Given the description of an element on the screen output the (x, y) to click on. 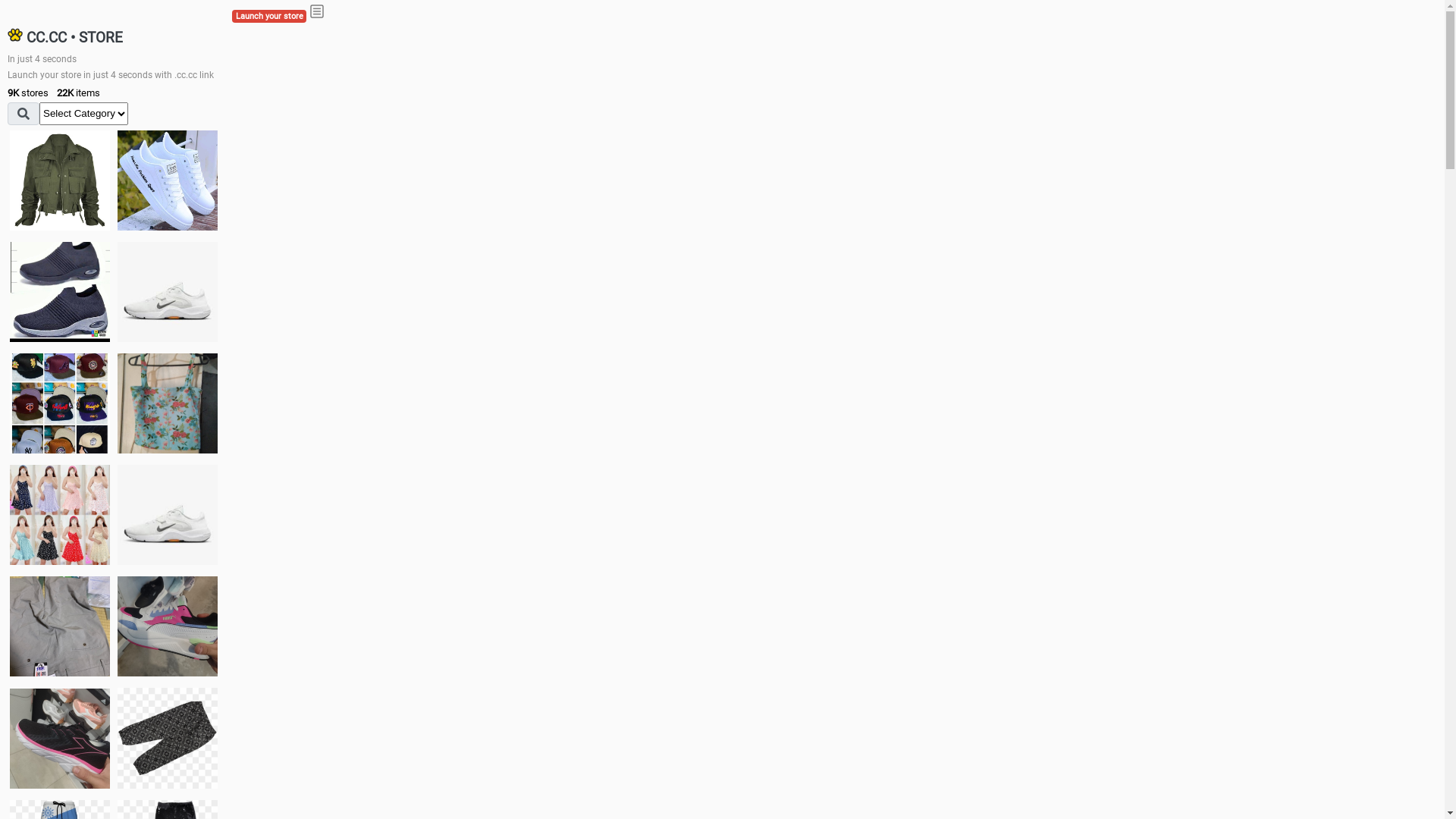
Shoes Element type: hover (167, 514)
jacket Element type: hover (59, 180)
Shoes for boys Element type: hover (167, 291)
Dress/square nect top Element type: hover (59, 514)
Zapatillas pumas Element type: hover (167, 626)
Ukay cloth Element type: hover (167, 403)
Zapatillas Element type: hover (59, 738)
white shoes Element type: hover (167, 180)
shoes for boys Element type: hover (59, 291)
Launch your store Element type: text (269, 15)
Things we need Element type: hover (59, 403)
Short pant Element type: hover (167, 737)
